Given the description of an element on the screen output the (x, y) to click on. 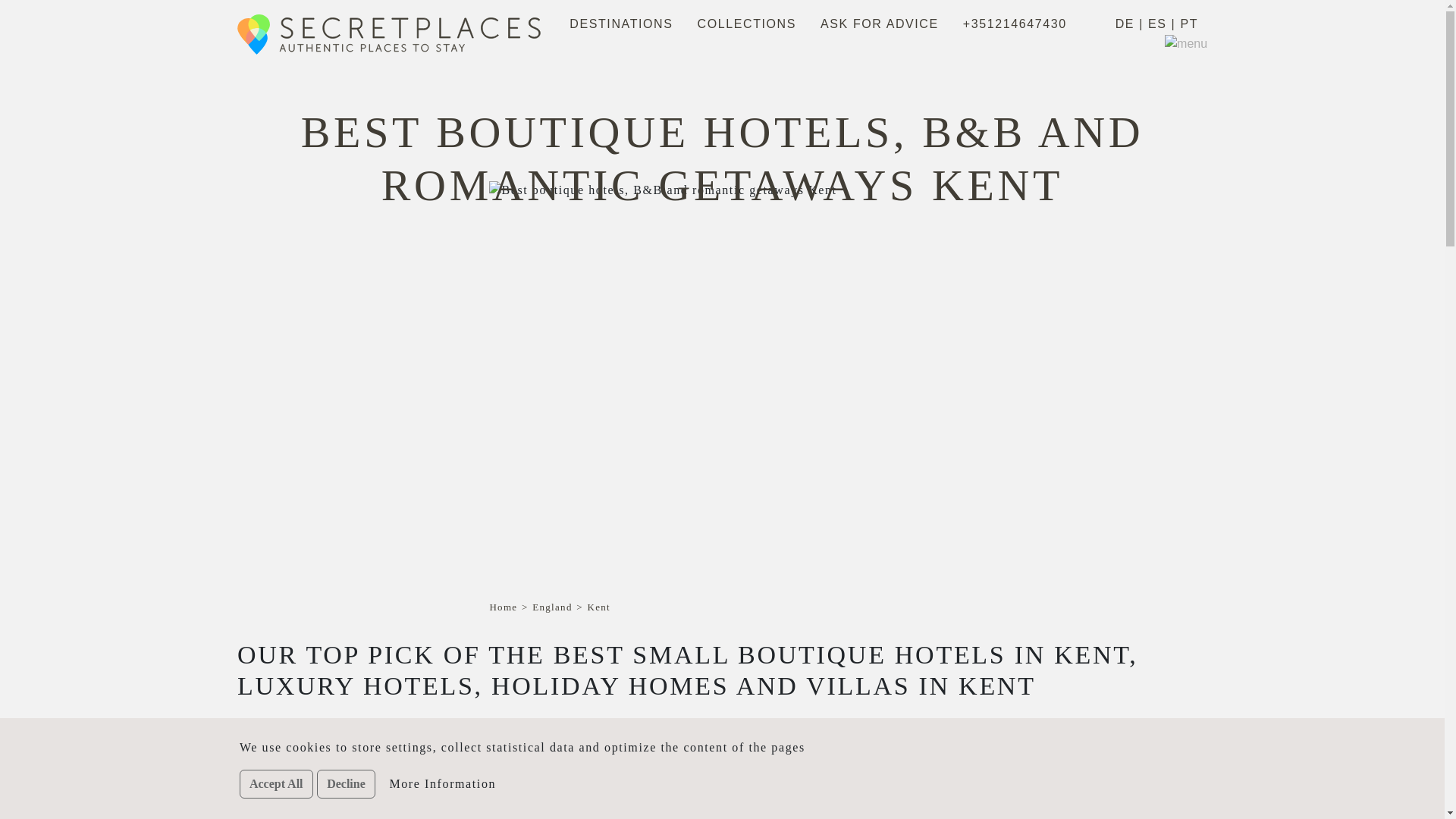
DESTINATIONS (620, 24)
DE (1124, 24)
COLLECTIONS (746, 24)
PT (1188, 24)
Secretplaces (398, 34)
ASK FOR ADVICE (880, 24)
ES (1157, 24)
